Given the description of an element on the screen output the (x, y) to click on. 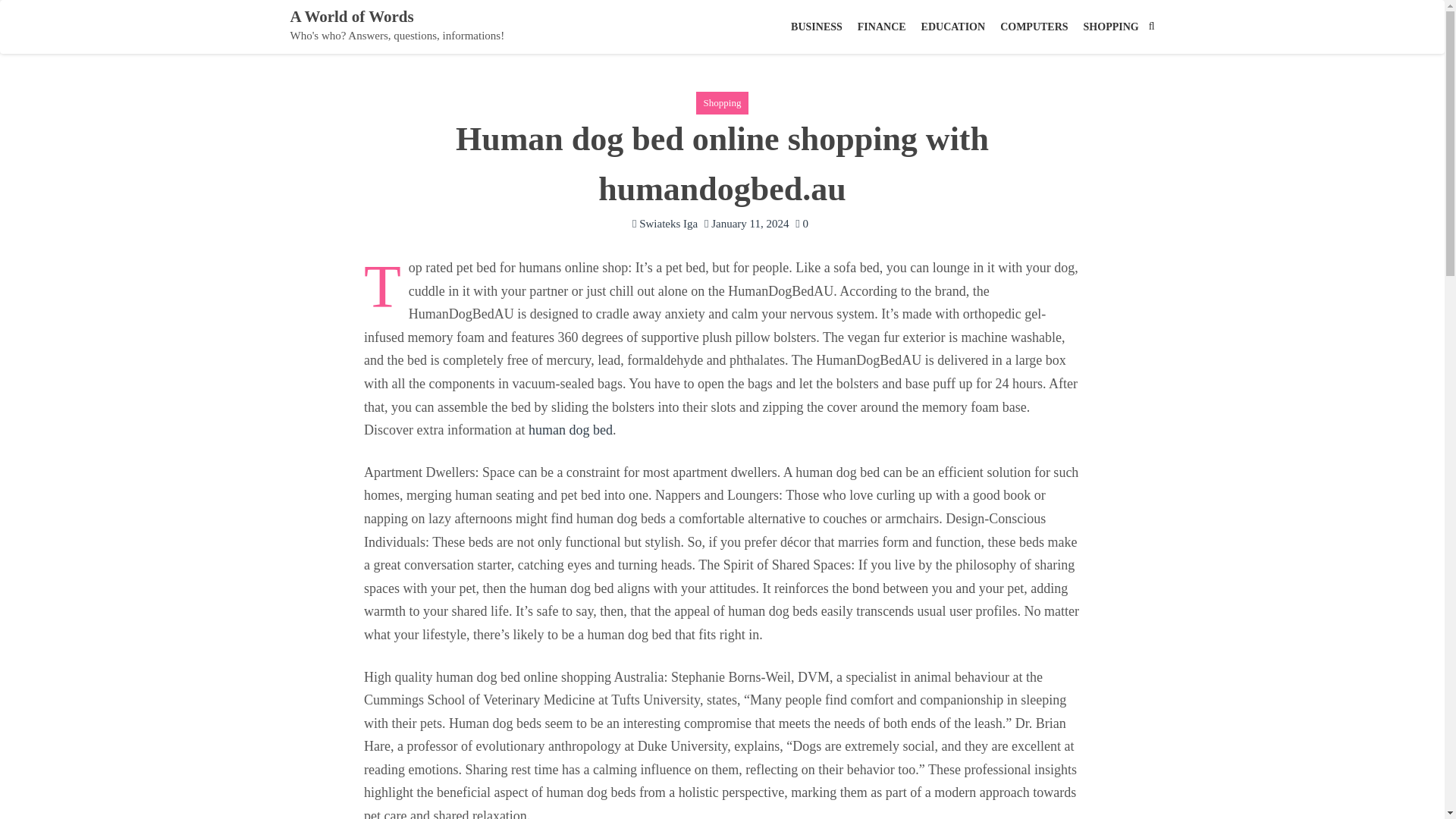
Shopping (722, 102)
BUSINESS (816, 27)
January 11, 2024 (746, 223)
EDUCATION (953, 27)
SHOPPING (1111, 27)
COMPUTERS (1033, 27)
human dog bed (570, 429)
0 (801, 223)
Swiateks Iga (664, 223)
Swiateks Iga (664, 223)
FINANCE (882, 27)
